Given the description of an element on the screen output the (x, y) to click on. 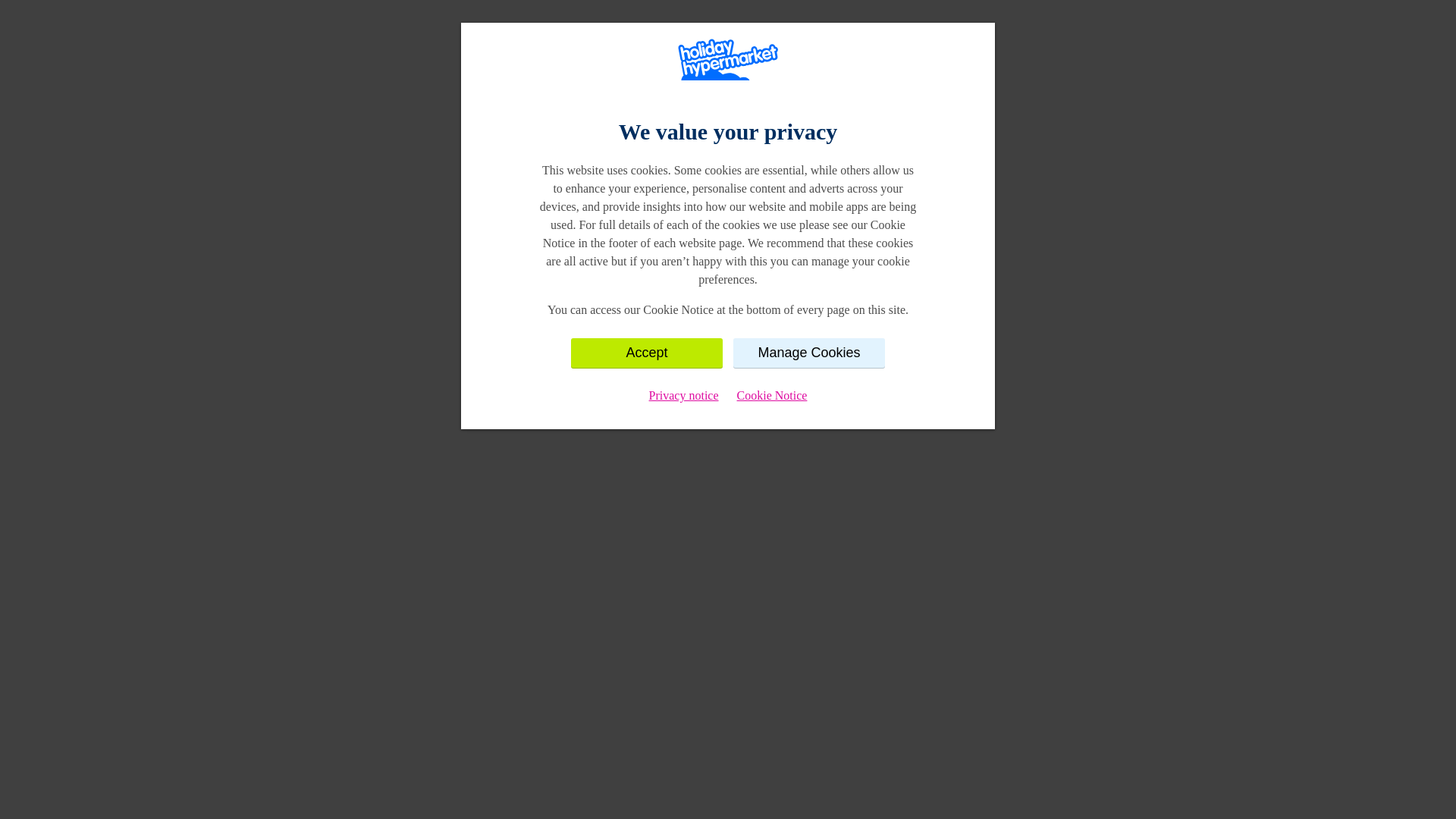
Go To Homepage (727, 259)
